Given the description of an element on the screen output the (x, y) to click on. 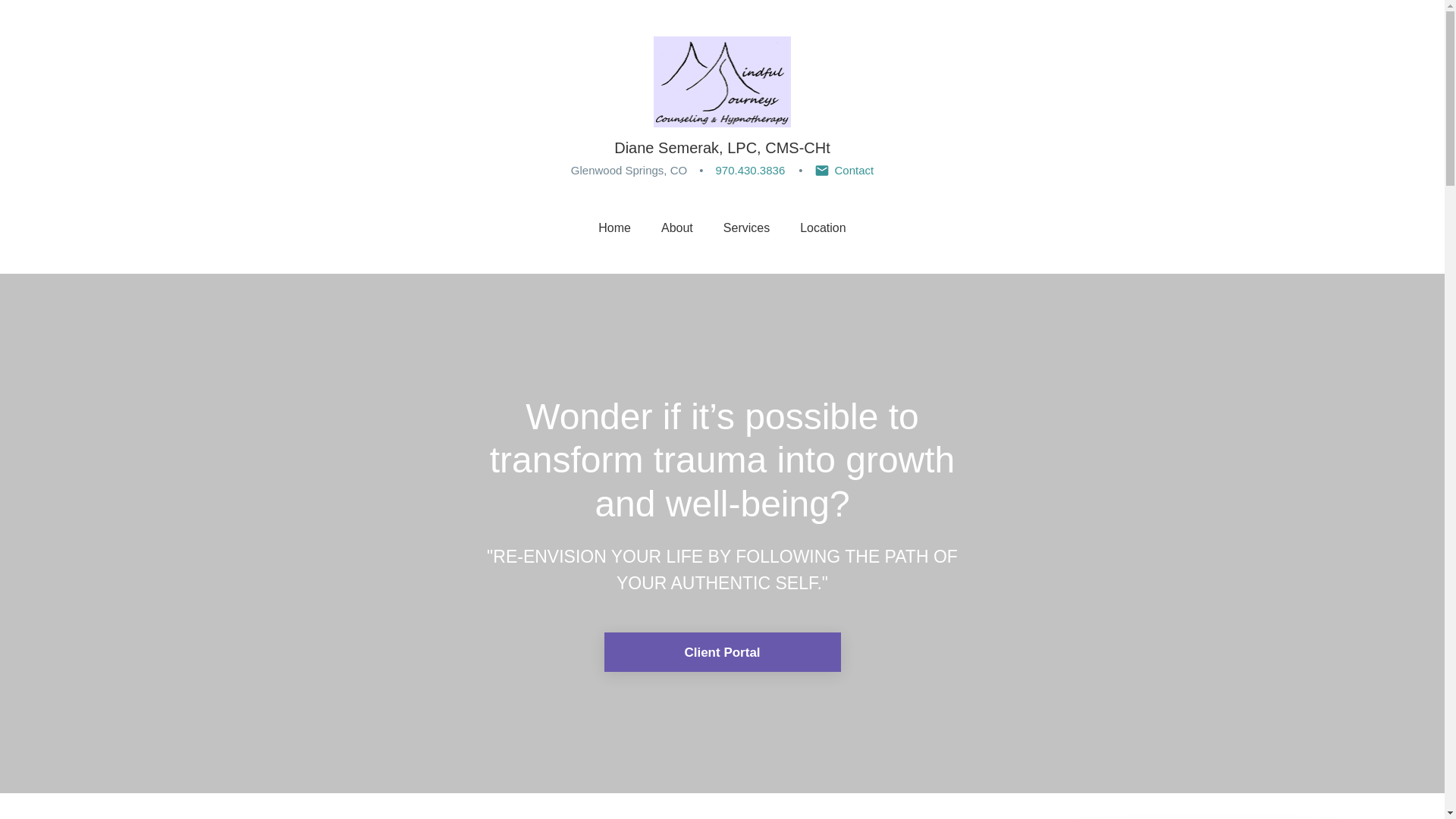
Contact (843, 170)
About (676, 227)
Client Portal (722, 651)
Services (746, 227)
Home (614, 227)
970.430.3836 (749, 170)
Location (822, 227)
